Given the description of an element on the screen output the (x, y) to click on. 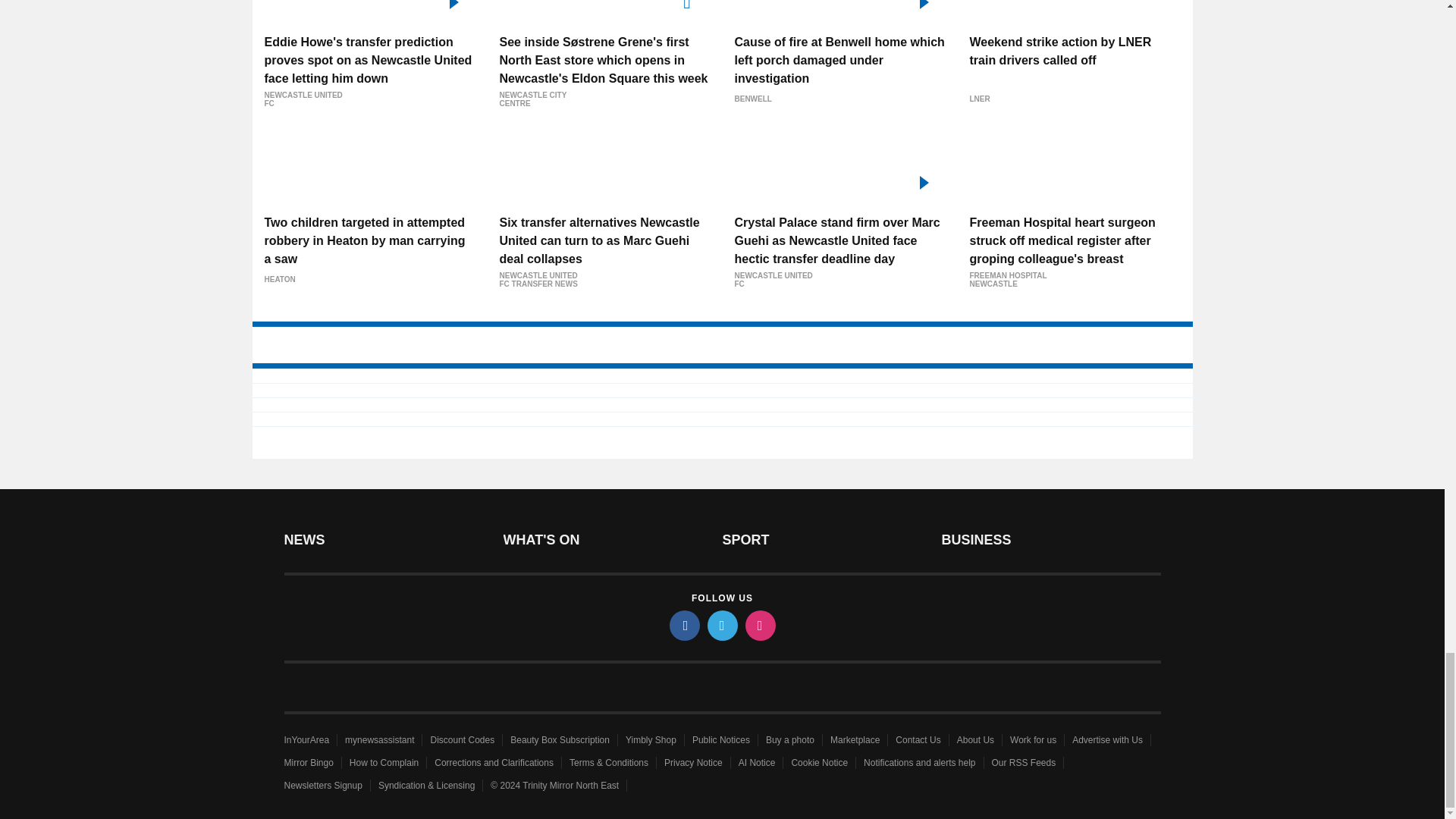
instagram (759, 625)
twitter (721, 625)
facebook (683, 625)
